Given the description of an element on the screen output the (x, y) to click on. 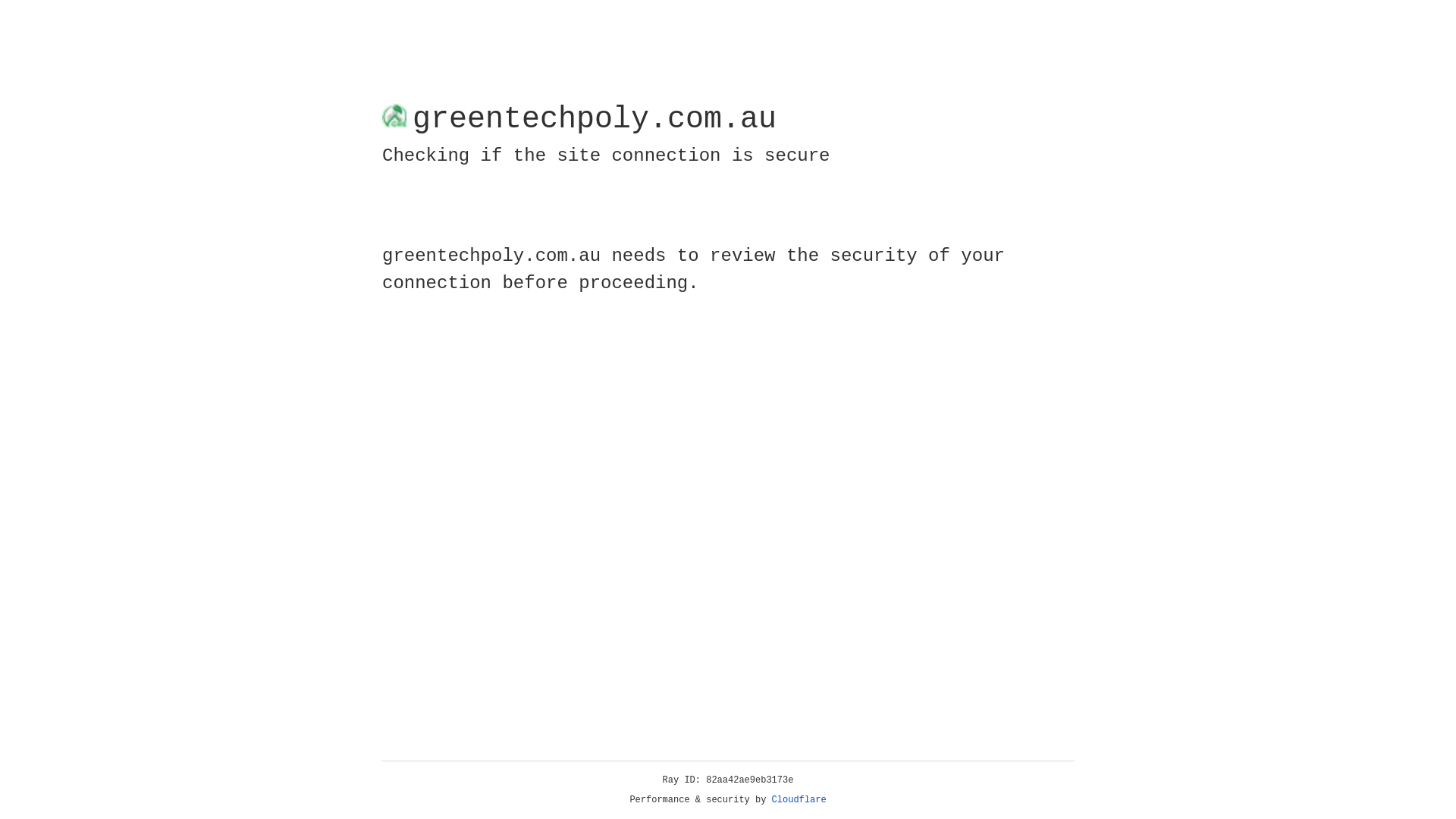
Cloudflare Element type: text (798, 799)
